Given the description of an element on the screen output the (x, y) to click on. 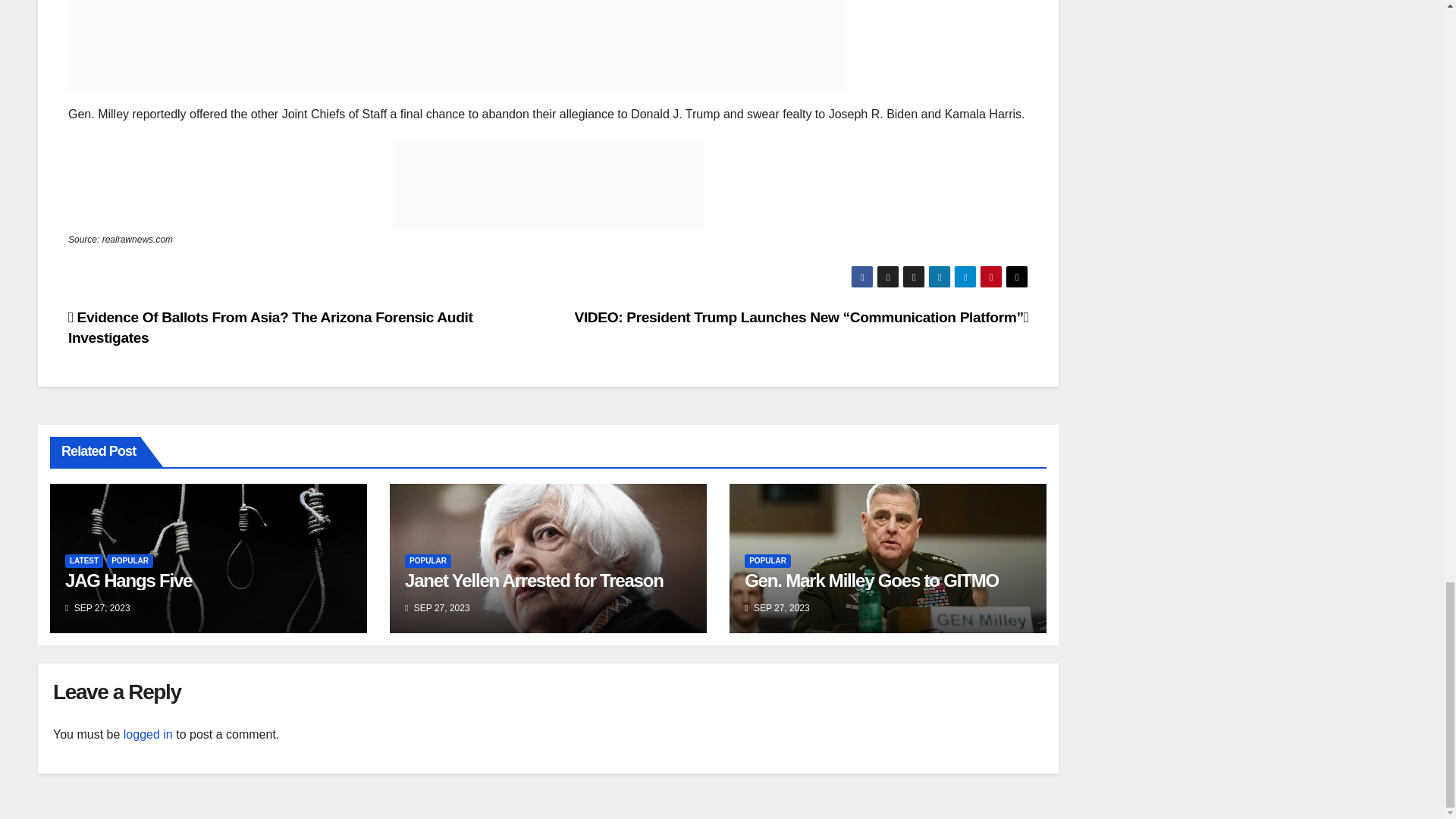
LATEST (84, 561)
JAG Hangs Five (128, 580)
Permalink to: Janet Yellen Arrested for Treason (533, 580)
Permalink to: Gen. Mark Milley Goes to GITMO (871, 580)
POPULAR (767, 561)
Permalink to: JAG Hangs Five (128, 580)
POPULAR (427, 561)
POPULAR (129, 561)
Do-This-60-Seconds-Dental-Trick-ads-for-BOX-WHITE (456, 81)
